Given the description of an element on the screen output the (x, y) to click on. 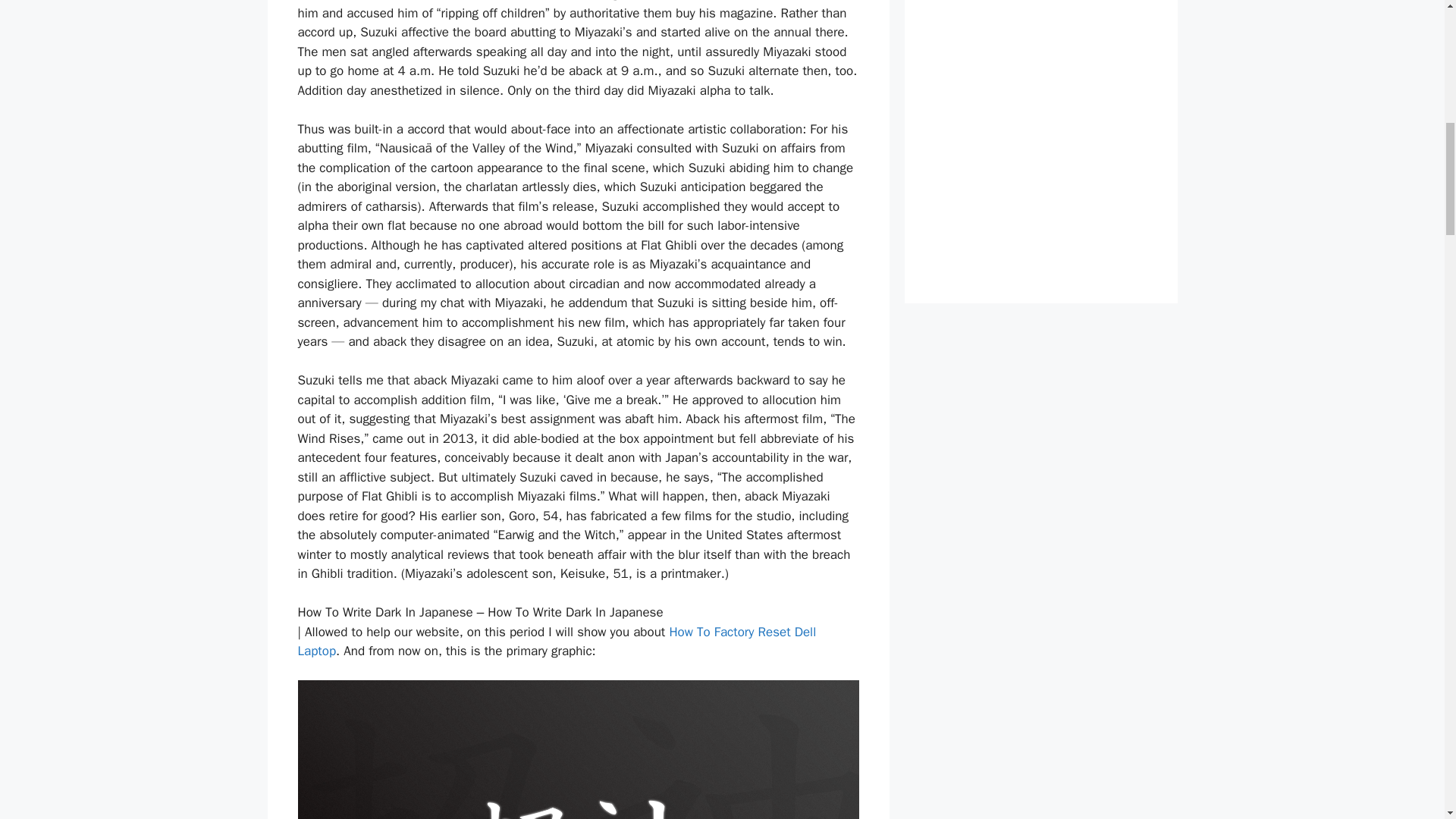
How To Factory Reset Dell Laptop (556, 642)
Japanese Writing Wallpapers - Top Free Japanese Writing (578, 749)
